Given the description of an element on the screen output the (x, y) to click on. 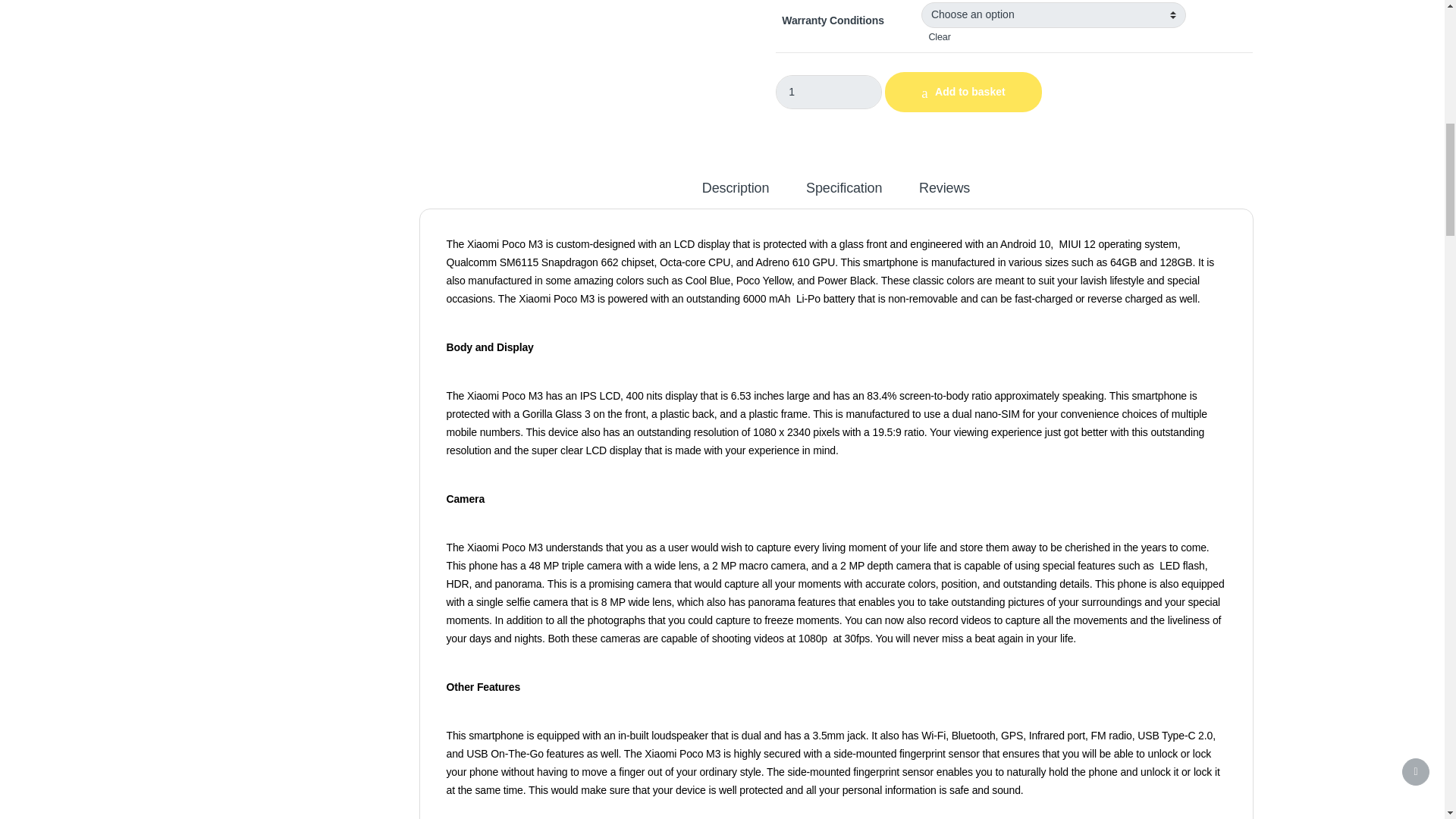
1 (829, 91)
